Given the description of an element on the screen output the (x, y) to click on. 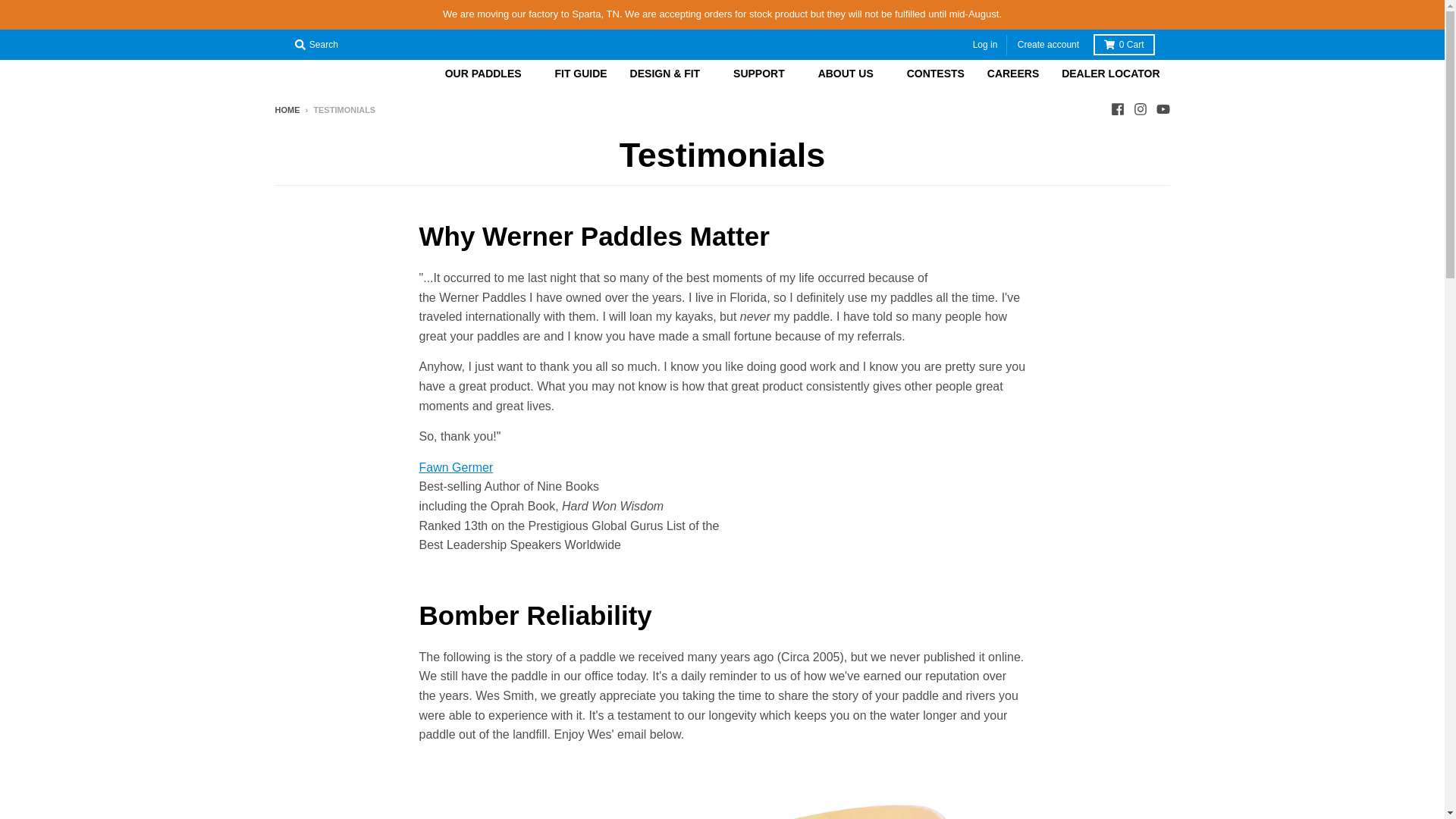
Back to the Home Pag (287, 109)
YouTube - Werner Paddles (1162, 109)
Log in (985, 45)
0 Cart (1123, 44)
Search (315, 44)
Fawn Germer (456, 467)
Facebook - Werner Paddles (1116, 109)
Create account (1048, 45)
Instagram - Werner Paddles (1139, 109)
OUR PADDLES (488, 72)
